Given the description of an element on the screen output the (x, y) to click on. 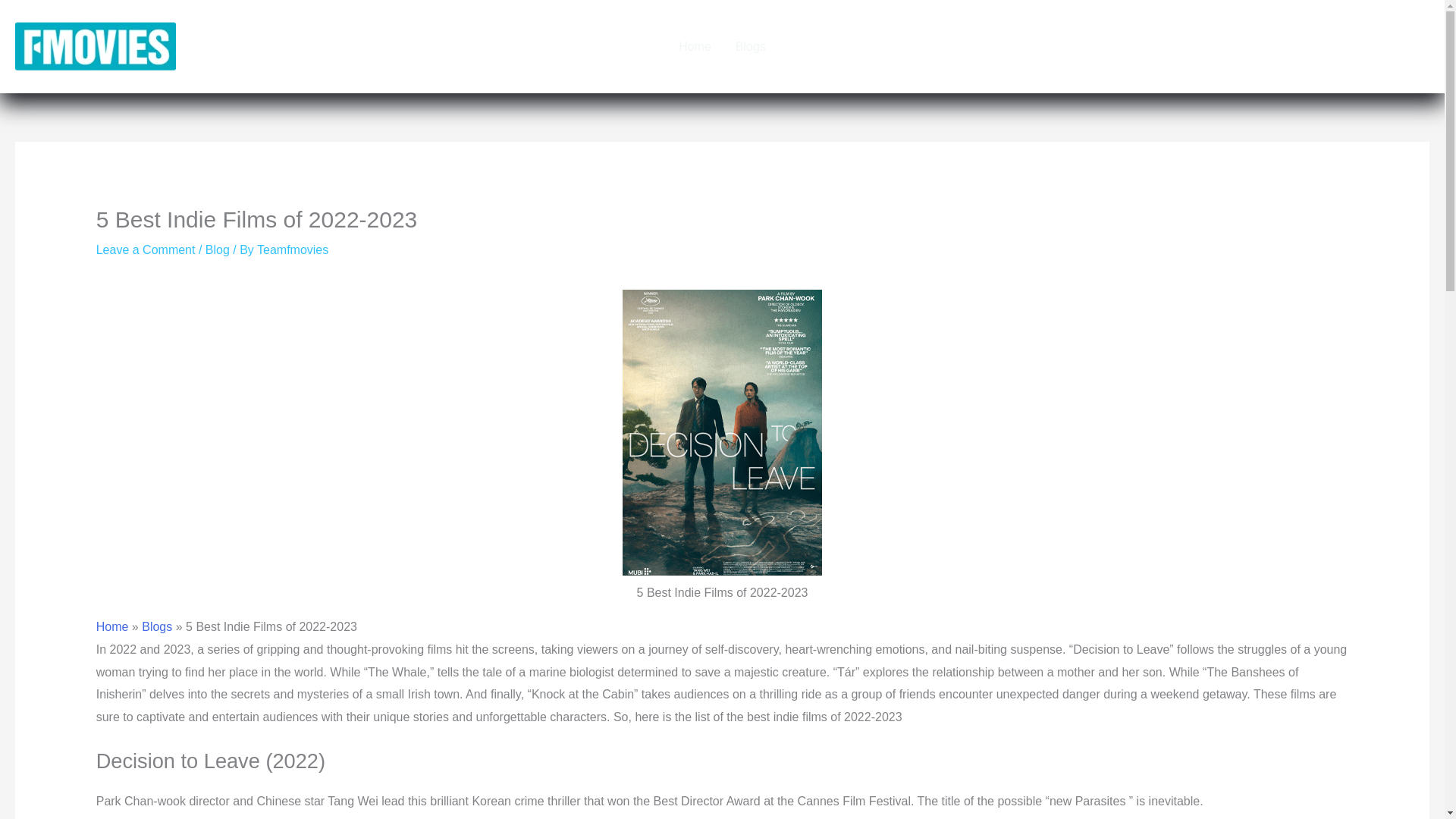
Blogs (750, 45)
Leave a Comment (145, 249)
Home (112, 626)
Blogs (156, 626)
Home (694, 45)
View all posts by Teamfmovies (293, 249)
Teamfmovies (293, 249)
Blog (217, 249)
